Given the description of an element on the screen output the (x, y) to click on. 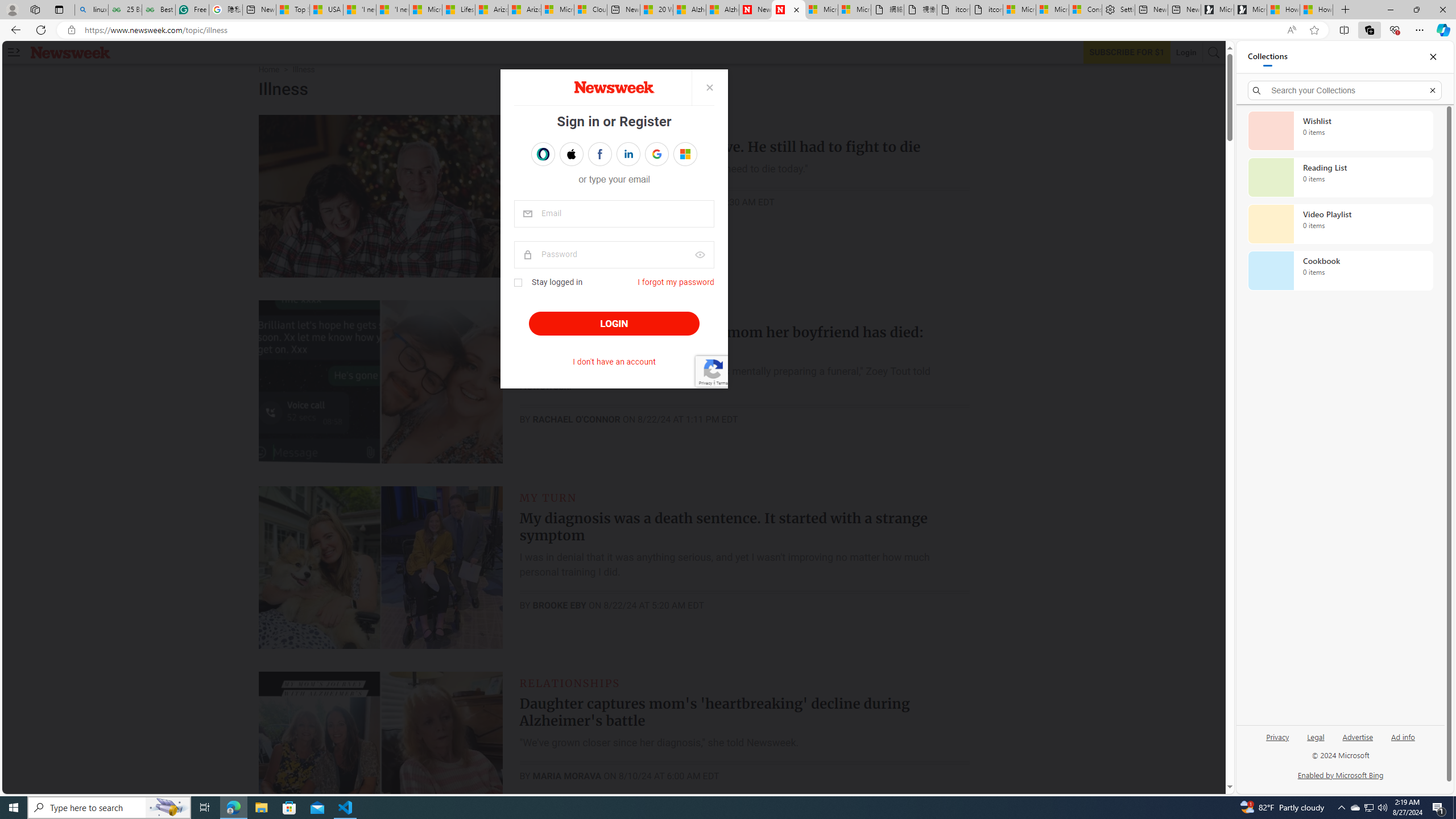
AutomationID: search-btn (1213, 51)
Sign in with APPLE (571, 154)
I don't have an account (613, 362)
Newsweek logo (70, 51)
25 Basic Linux Commands For Beginners - GeeksforGeeks (125, 9)
Search your Collections (1345, 90)
Sign in with OPENPASS (541, 154)
Consumer Health Data Privacy Policy (1085, 9)
